Given the description of an element on the screen output the (x, y) to click on. 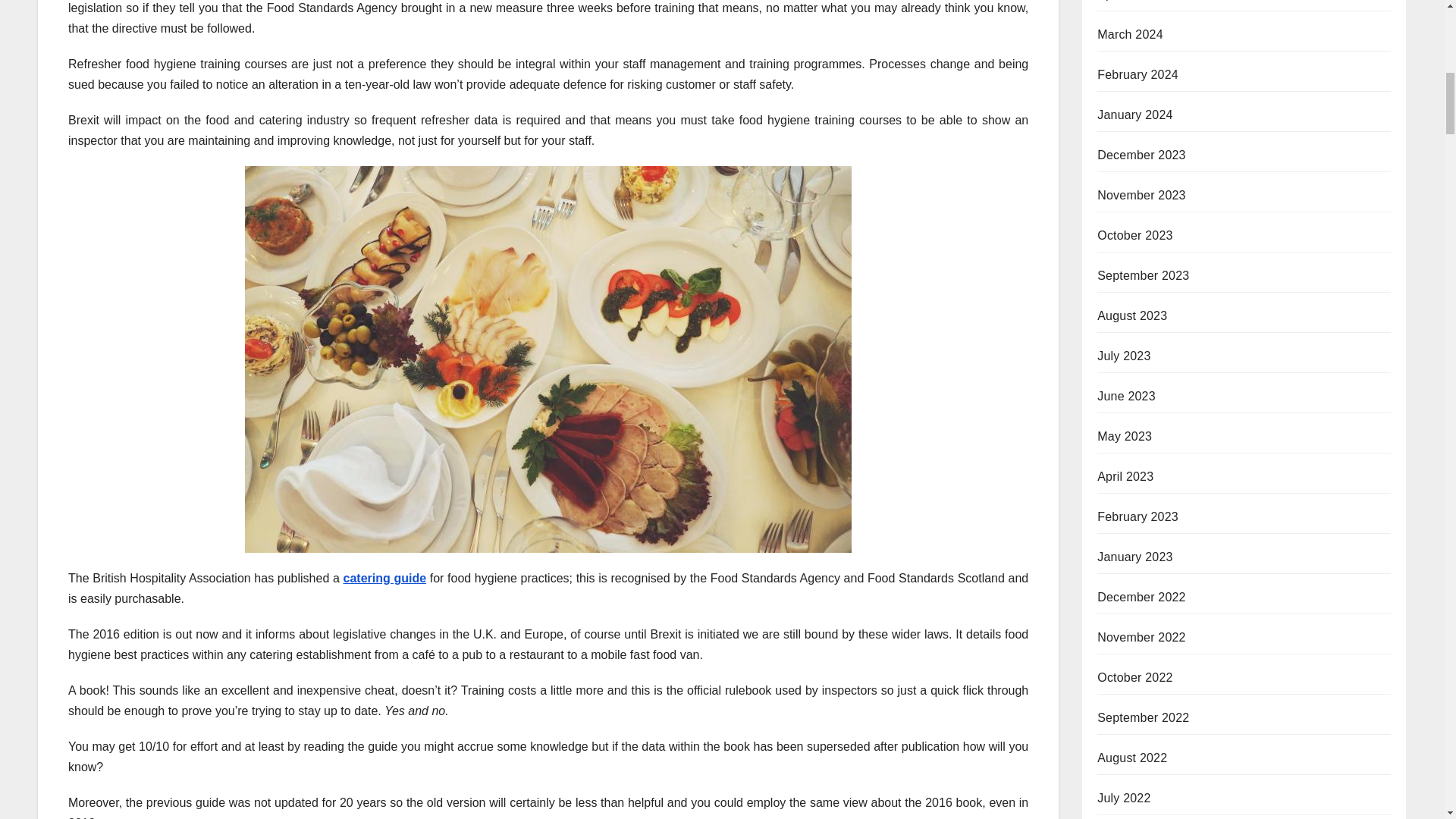
catering guide (384, 577)
